Given the description of an element on the screen output the (x, y) to click on. 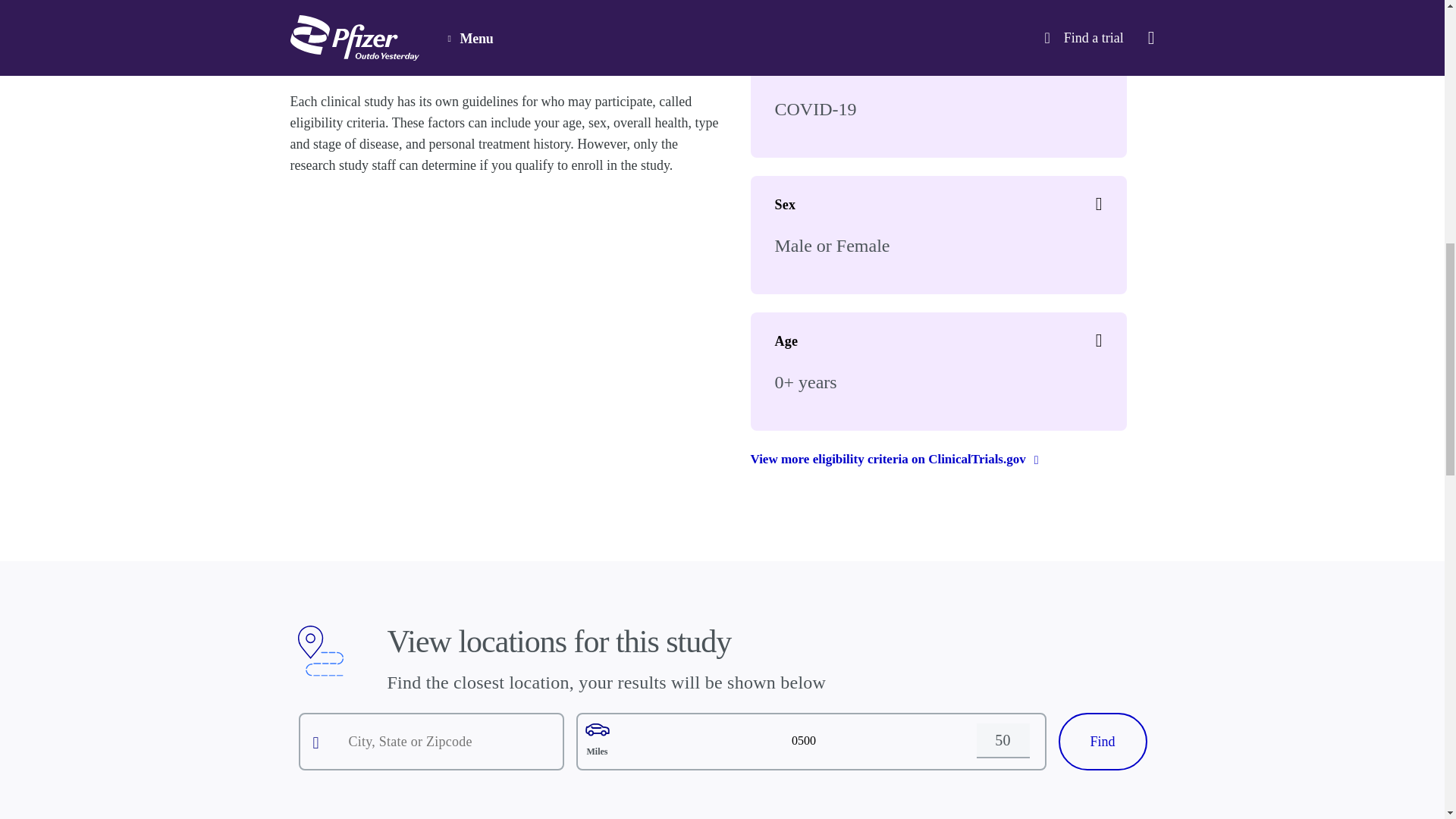
View more eligibility criteria on ClinicalTrials.gov (893, 459)
The age a person must be to participate in a clinical trial. (1099, 340)
Find (1102, 741)
50 (1002, 740)
Find (1102, 741)
